Given the description of an element on the screen output the (x, y) to click on. 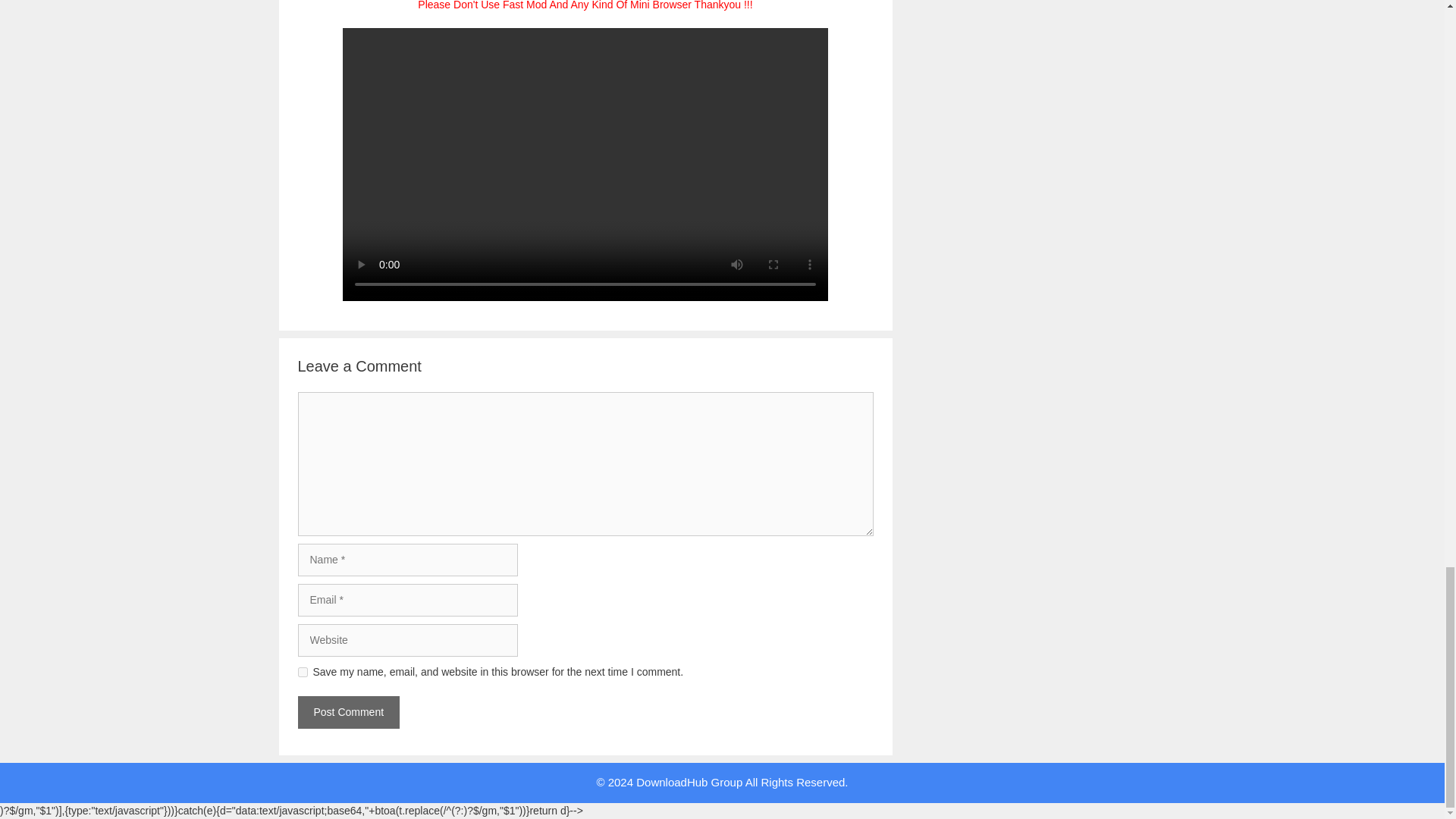
yes (302, 672)
Post Comment (347, 712)
Post Comment (347, 712)
